Given the description of an element on the screen output the (x, y) to click on. 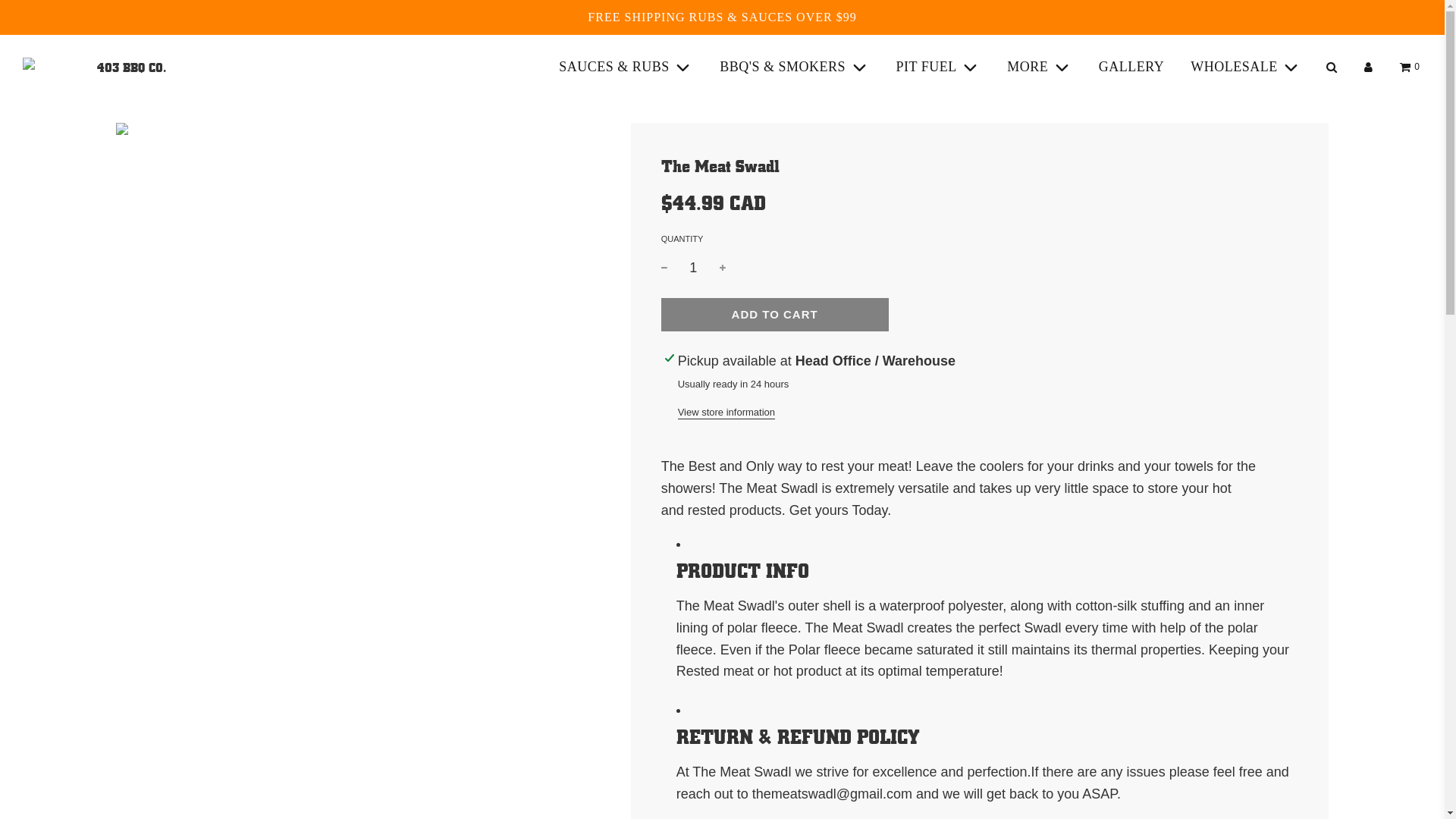
SAUCES & RUBS Element type: text (625, 65)
BBQ'S & SMOKERS Element type: text (794, 65)
LOADING...
ADD TO CART Element type: text (774, 314)
Log in Element type: hover (1368, 66)
WHOLESALE Element type: text (1245, 65)
View store information Element type: text (726, 412)
GALLERY Element type: text (1131, 66)
PIT FUEL Element type: text (938, 65)
MORE Element type: text (1039, 65)
0 Element type: text (1409, 66)
